Given the description of an element on the screen output the (x, y) to click on. 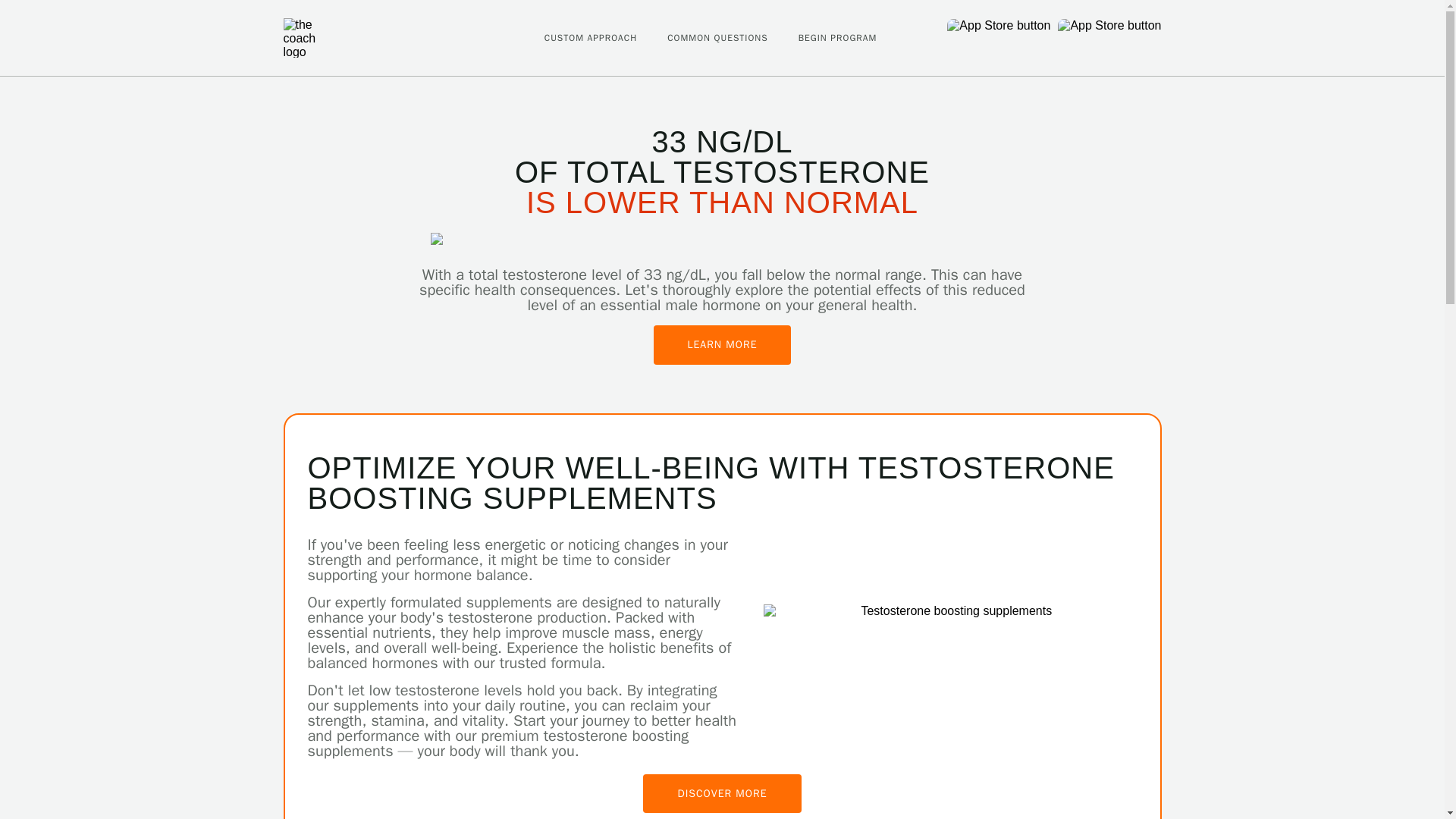
Testosterone boosting supplements (949, 611)
DISCOVER MORE (721, 793)
LEARN MORE (722, 344)
